Given the description of an element on the screen output the (x, y) to click on. 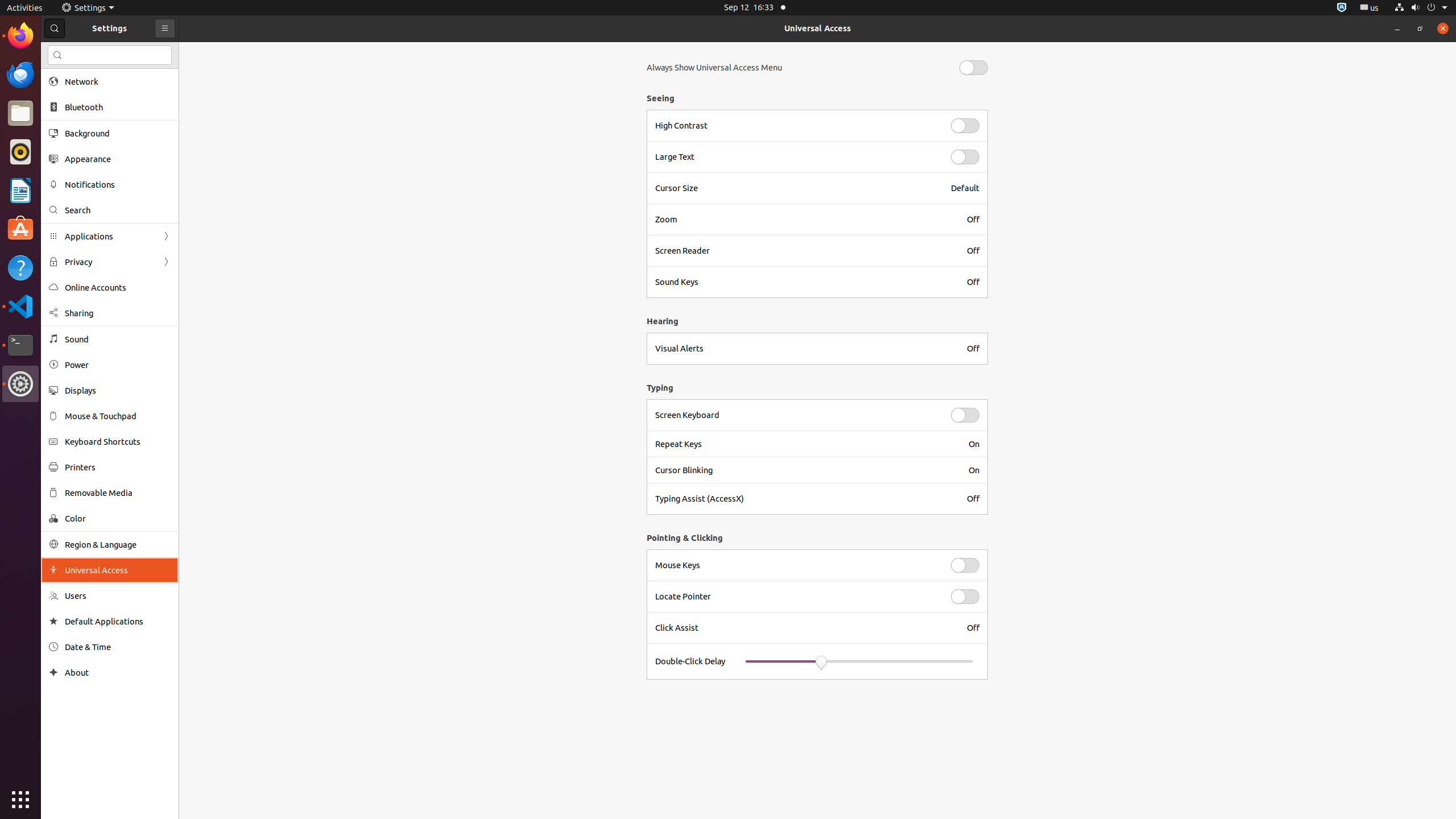
Applications Element type: label (109, 236)
Forward Element type: icon (165, 261)
Screen Reader Element type: label (804, 250)
Settings Element type: push-button (20, 383)
Sound Element type: label (117, 339)
